Given the description of an element on the screen output the (x, y) to click on. 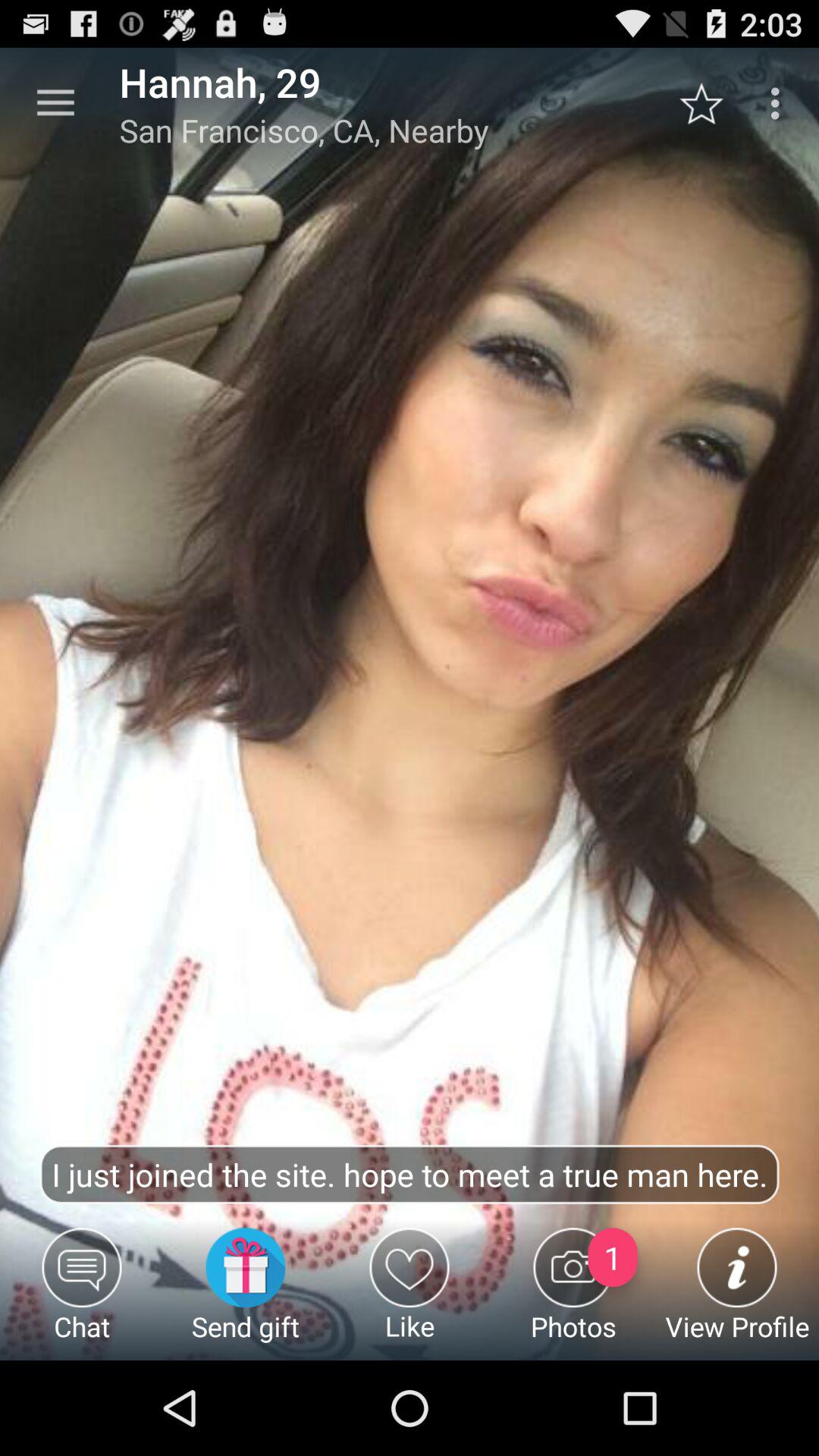
choose the icon next to the photos icon (409, 1293)
